Given the description of an element on the screen output the (x, y) to click on. 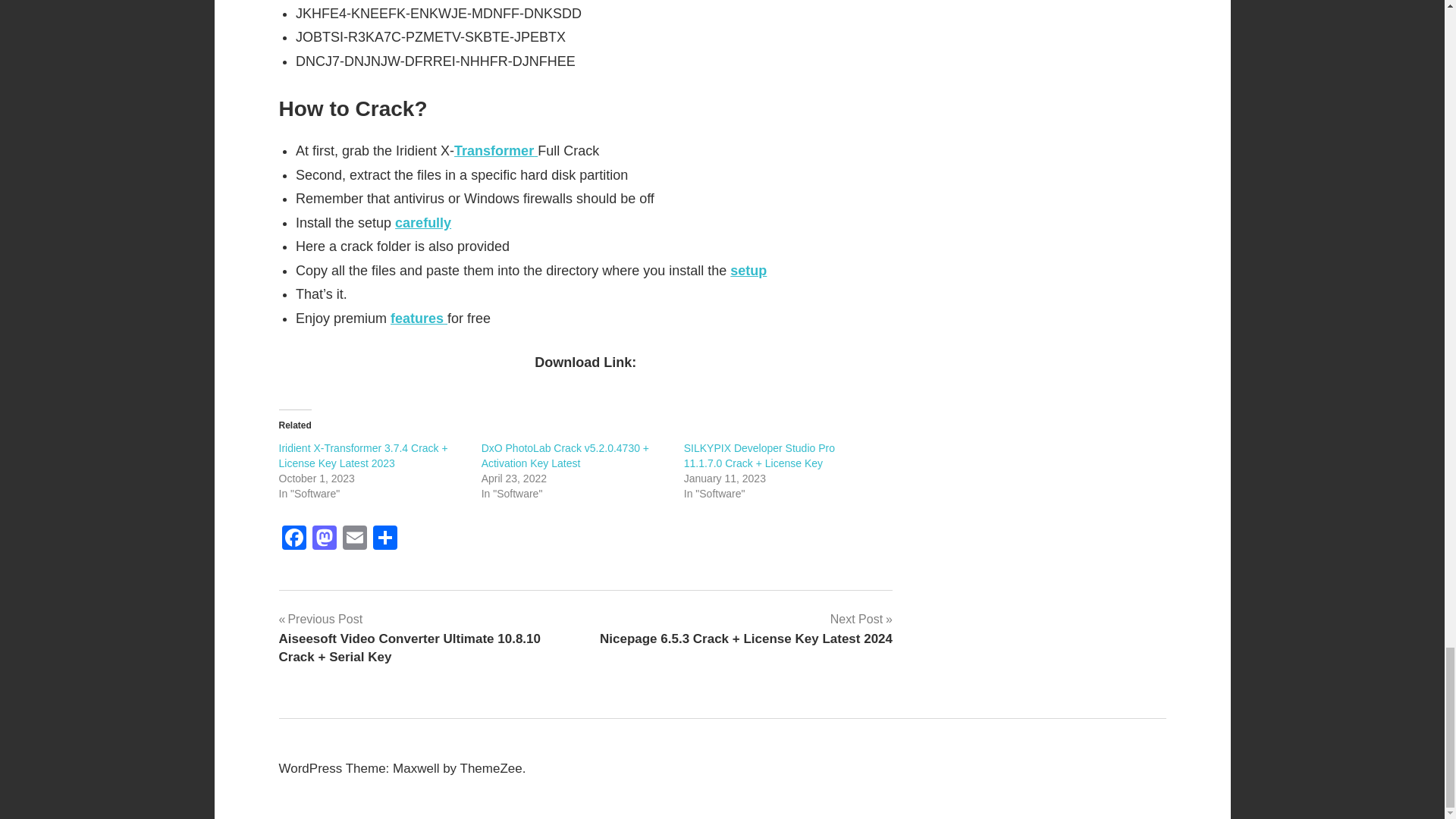
carefully (422, 222)
Mastodon (323, 539)
features (418, 318)
Facebook (293, 539)
Transformer (495, 150)
Facebook (293, 539)
Email (354, 539)
Email (354, 539)
Mastodon (323, 539)
setup (748, 270)
